Given the description of an element on the screen output the (x, y) to click on. 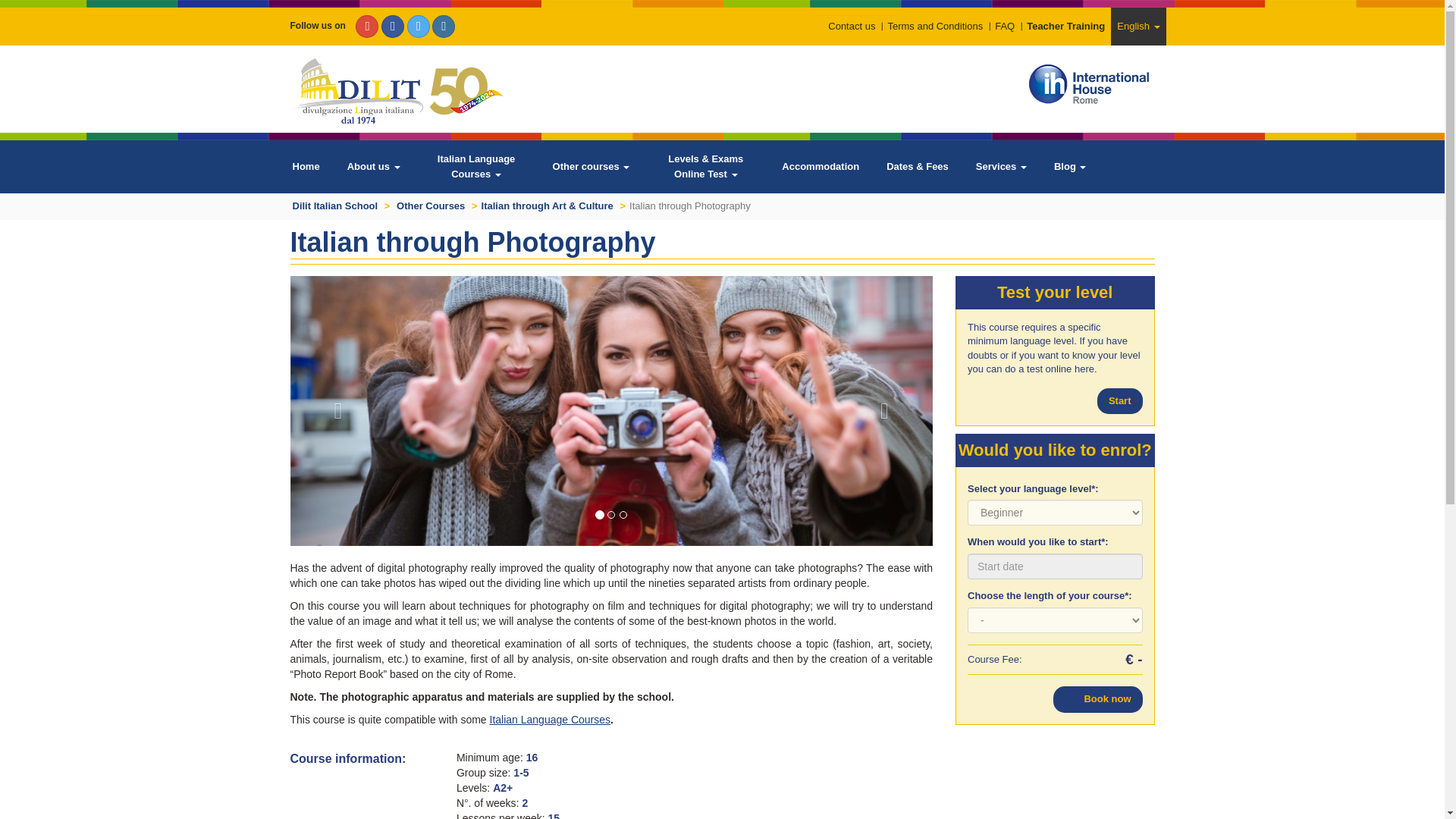
Teacher Training (1065, 26)
About us (373, 166)
Italian Language Courses (475, 166)
Home (306, 166)
Contact us (851, 26)
Terms and Conditions (934, 26)
English (1138, 26)
Other courses (590, 166)
